Given the description of an element on the screen output the (x, y) to click on. 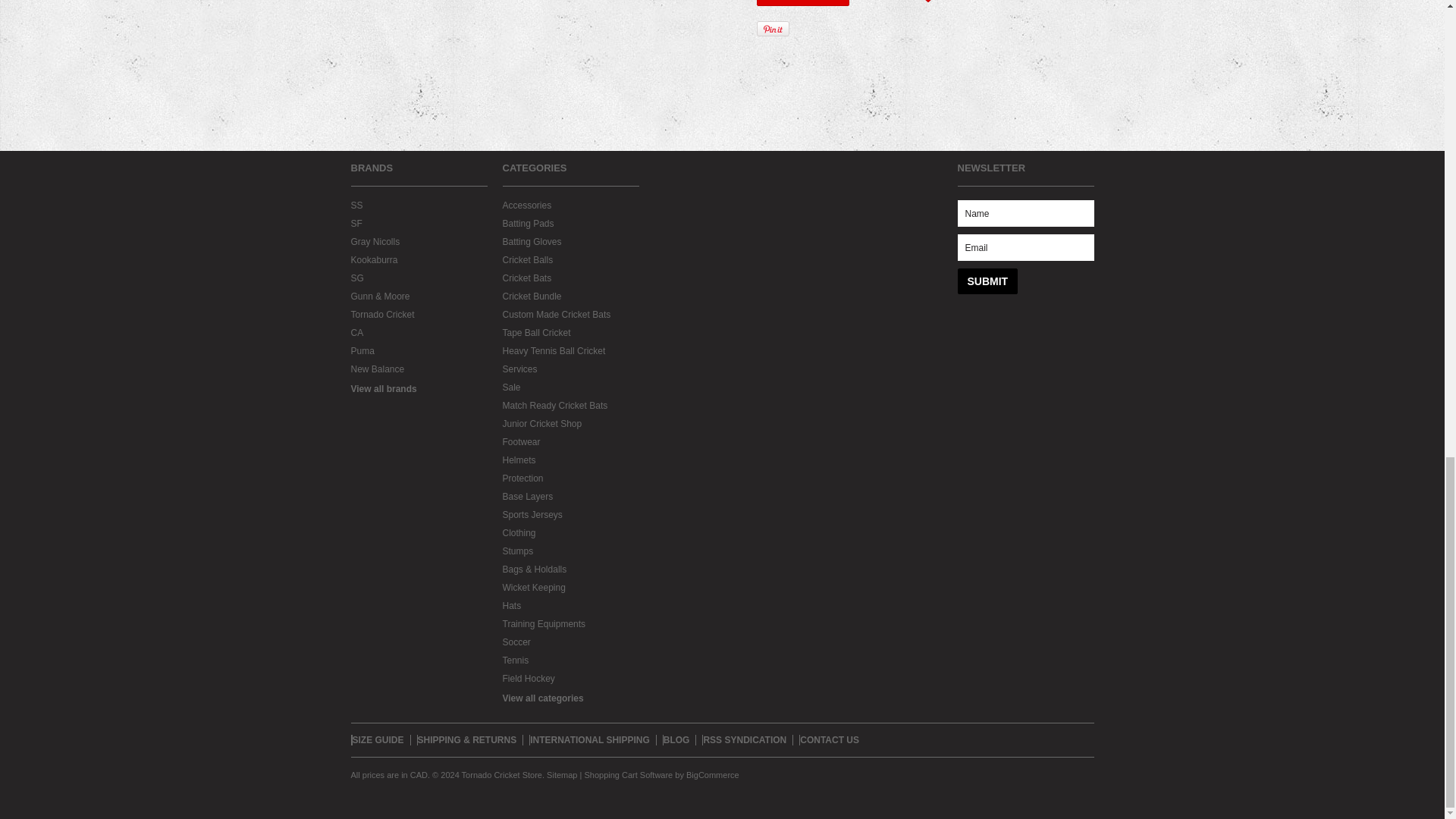
Submit (986, 281)
Add To Cart (802, 2)
Name (1024, 212)
Email (1024, 247)
Add to Wishlist (893, 3)
Add to Wishlist (893, 3)
Add To Cart (802, 2)
Default Currency (419, 774)
